Given the description of an element on the screen output the (x, y) to click on. 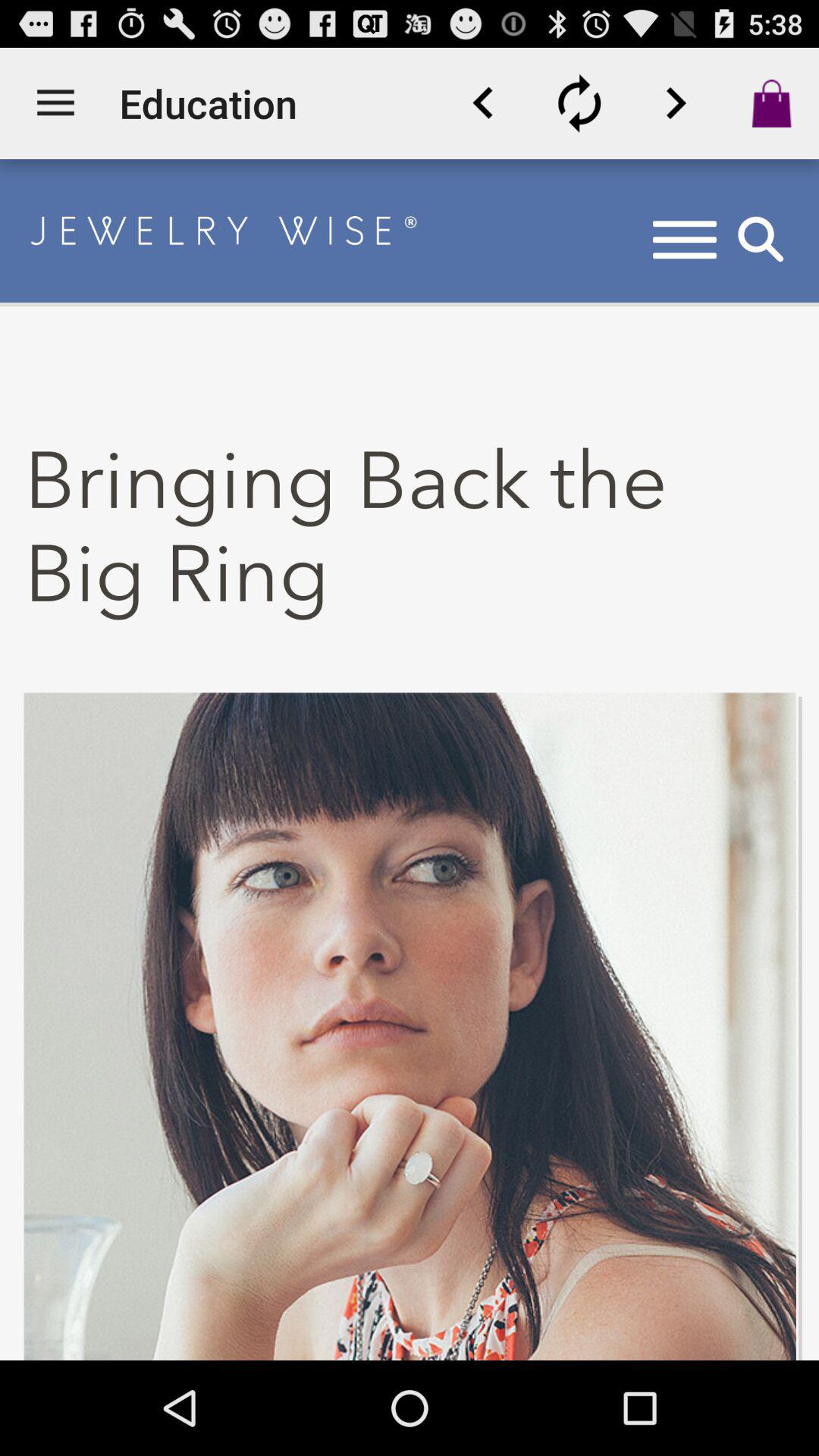
refresh page (579, 103)
